Given the description of an element on the screen output the (x, y) to click on. 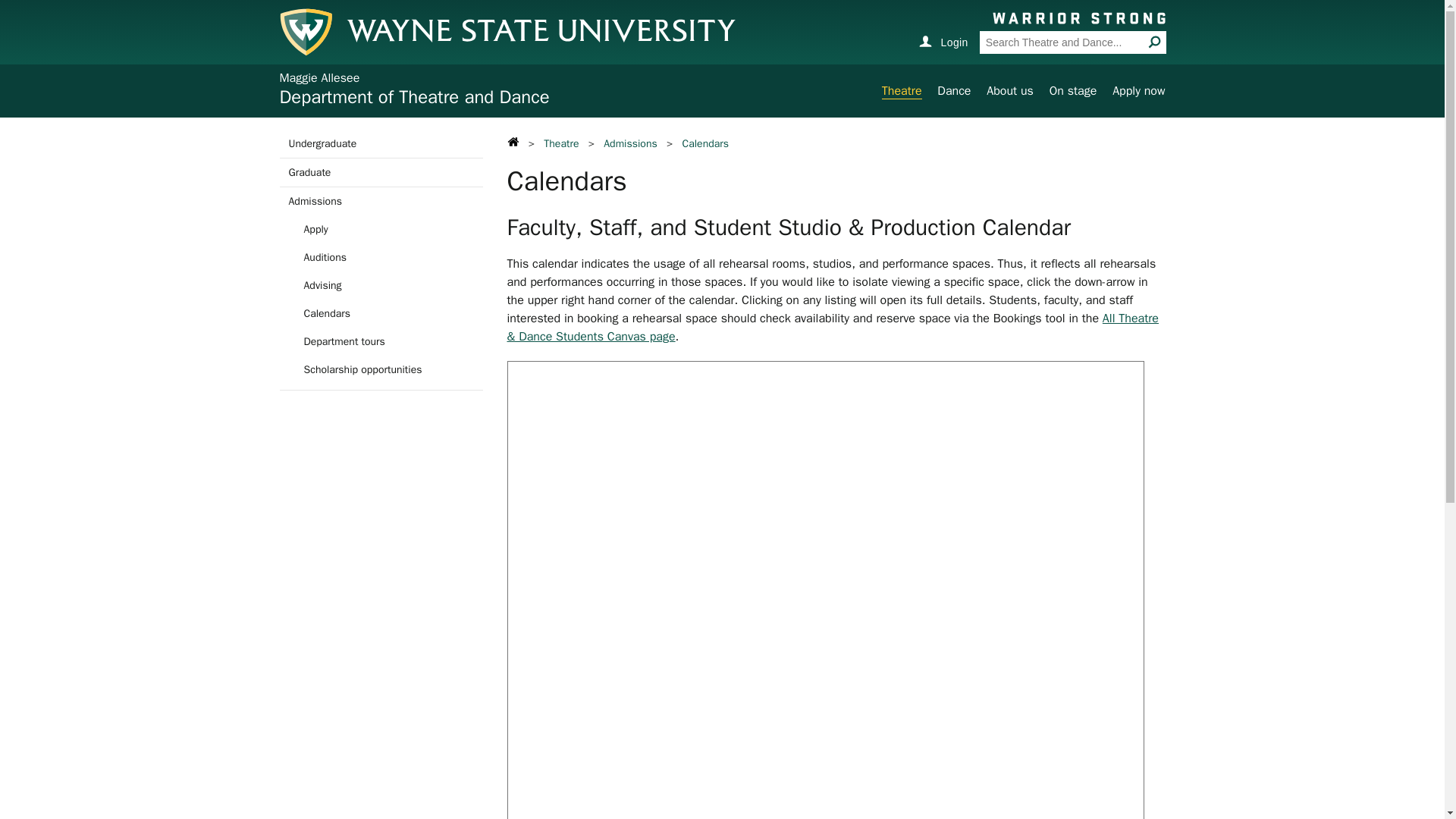
Theatre (901, 91)
Apply now (1138, 90)
Undergraduate (380, 143)
On stage (1073, 90)
Admissions (630, 143)
Department tours (380, 341)
Calendars (380, 313)
Maggie Allesee (319, 77)
Advising (380, 285)
Dance (954, 90)
Scholarship opportunities (380, 369)
Graduate (380, 172)
Department of Theatre and Dance (413, 96)
Admissions (380, 201)
